Given the description of an element on the screen output the (x, y) to click on. 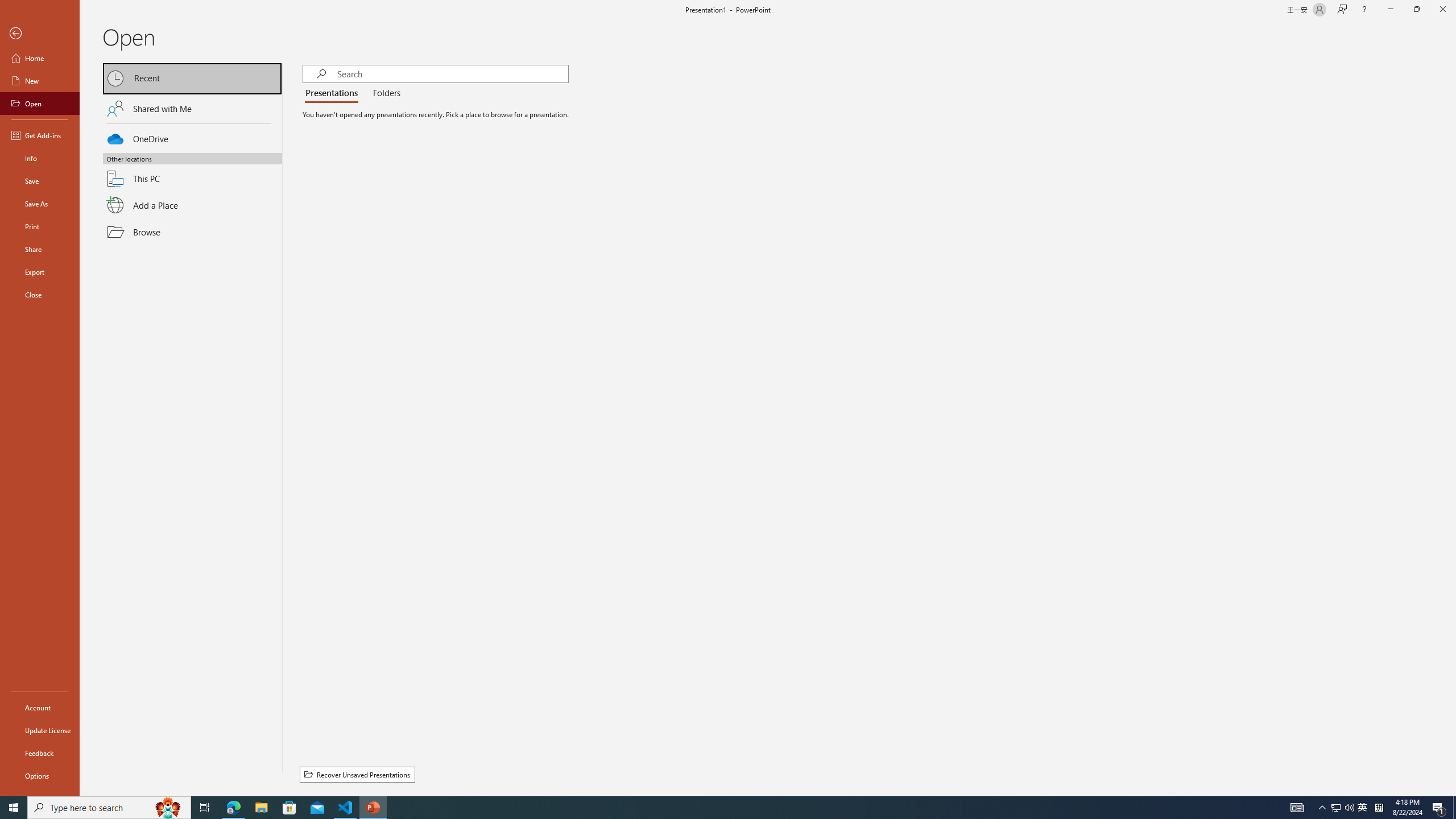
Back (40, 33)
Export (40, 271)
Browse (192, 231)
Update License (40, 730)
Account (40, 707)
New (40, 80)
Print (40, 225)
Get Add-ins (40, 134)
Shared with Me (192, 108)
